Given the description of an element on the screen output the (x, y) to click on. 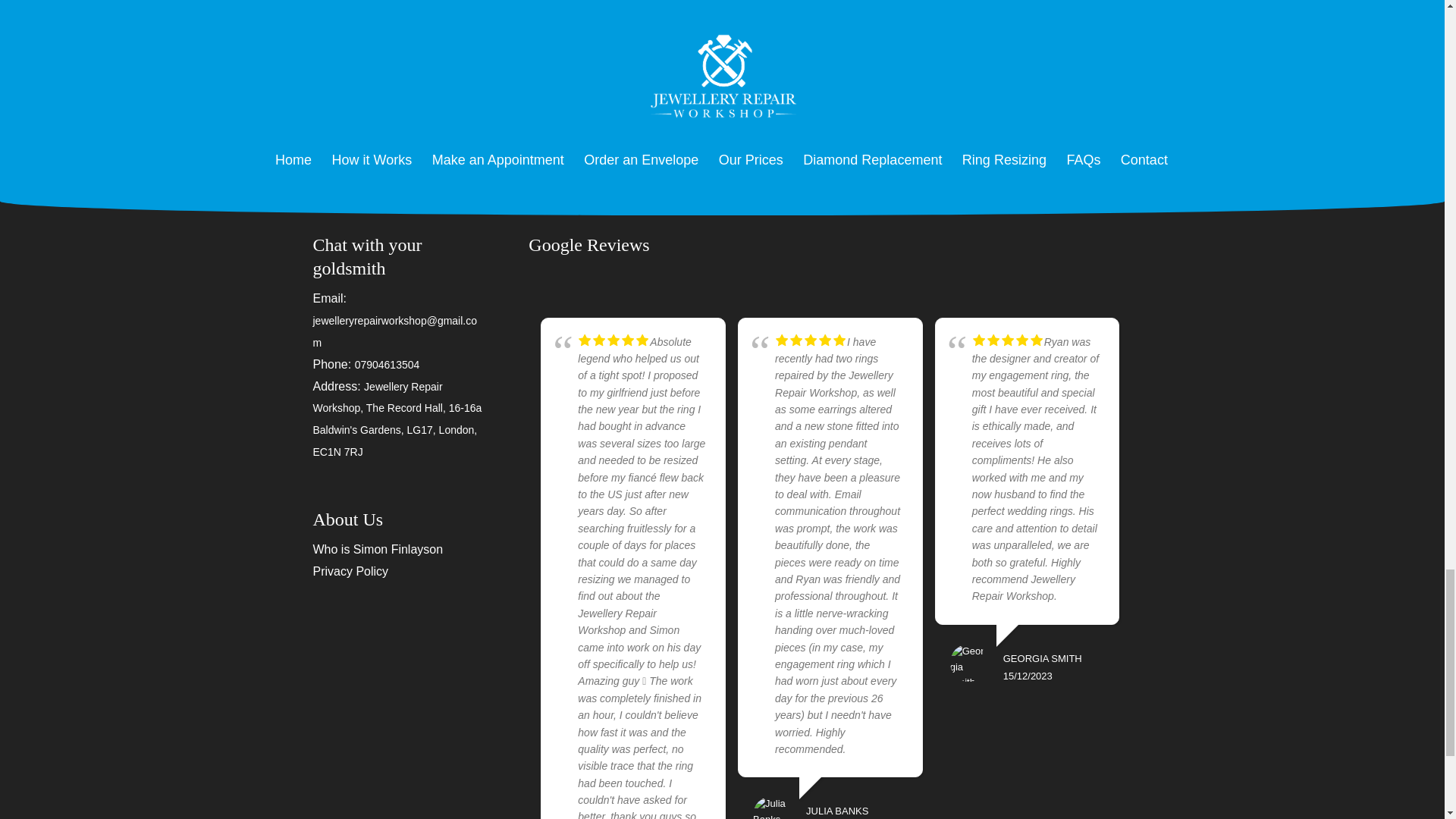
Privacy Policy (350, 571)
Who is Simon Finlayson (377, 549)
